Given the description of an element on the screen output the (x, y) to click on. 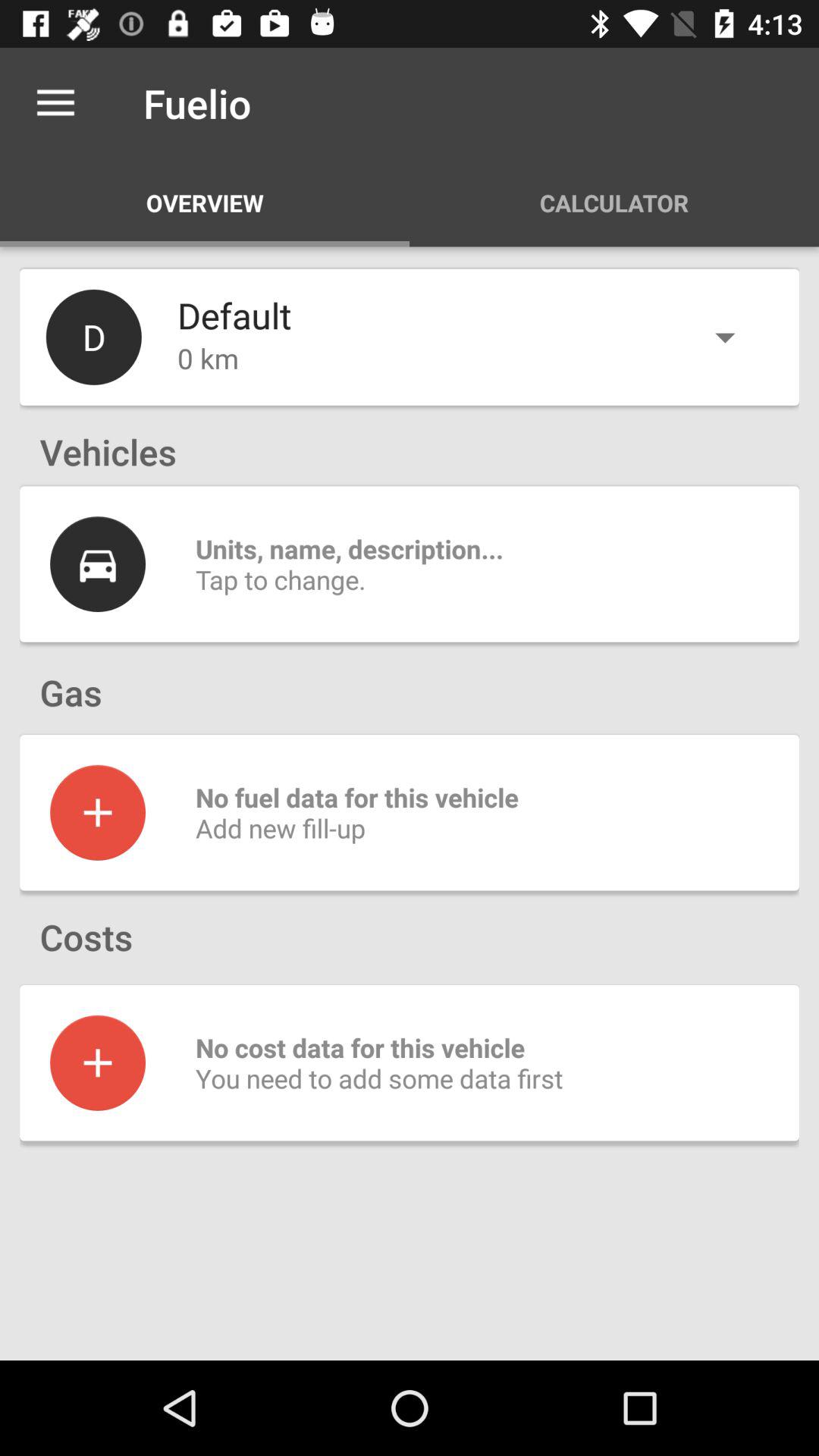
user details (97, 563)
